Given the description of an element on the screen output the (x, y) to click on. 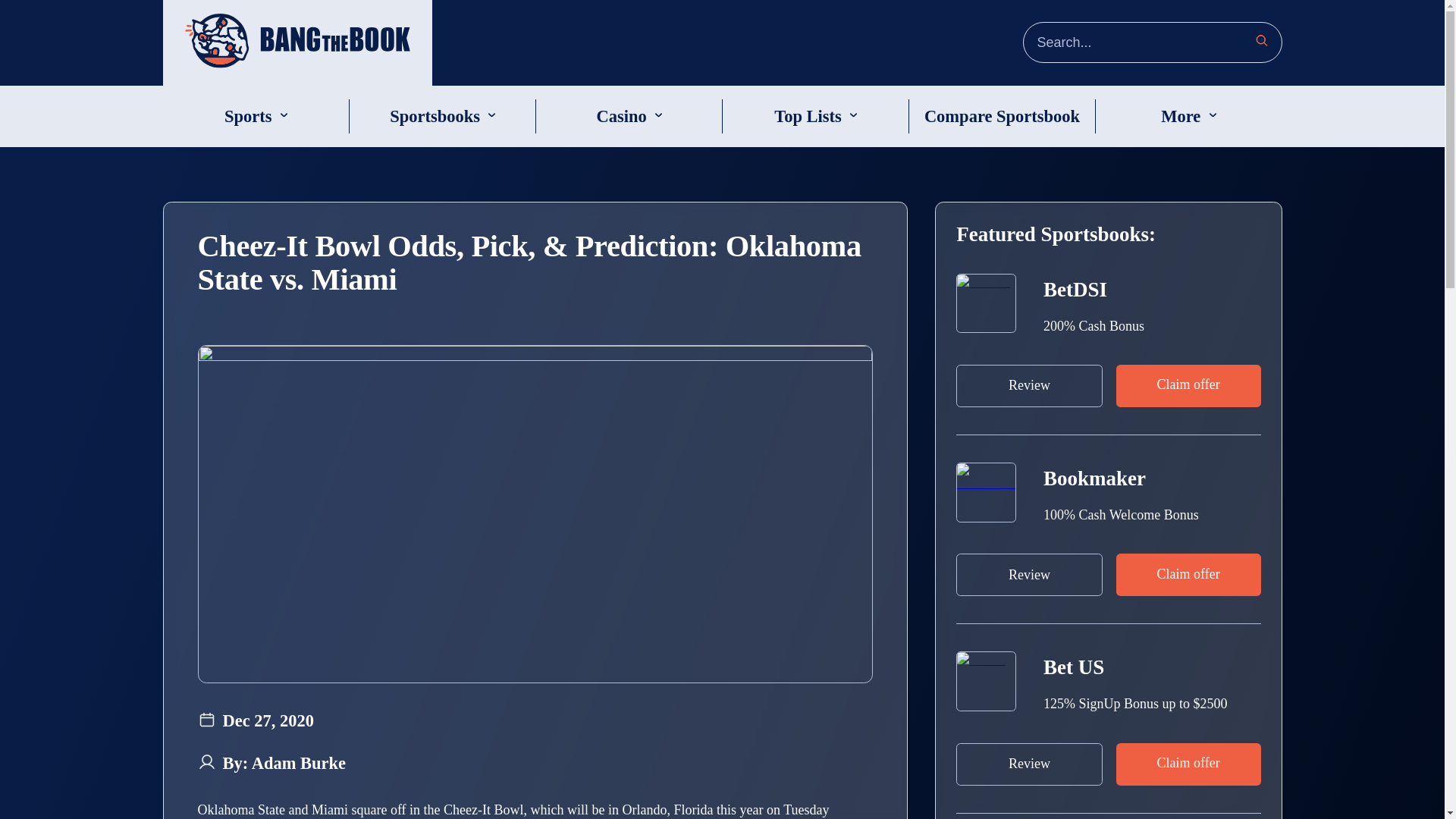
Top Lists (807, 116)
Sportsbooks (435, 116)
Sports (248, 116)
Casino (620, 116)
